Given the description of an element on the screen output the (x, y) to click on. 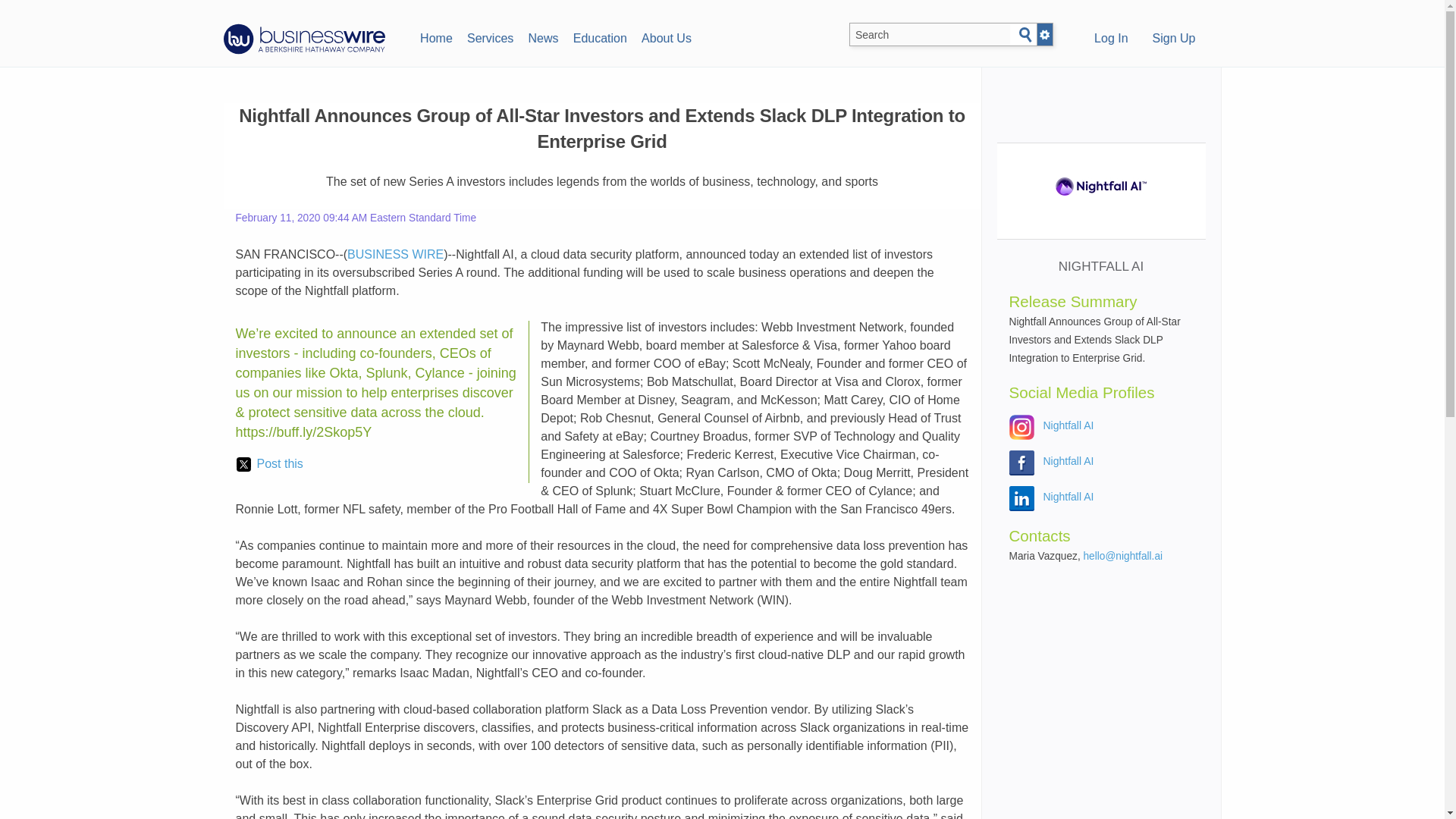
About Us (665, 36)
Nightfall AI (1068, 425)
Education (599, 36)
Nightfall AI (1068, 460)
Nightfall AI (1068, 496)
News (543, 36)
Post this (269, 463)
BUSINESS WIRE (395, 254)
Home (436, 36)
Search BusinessWire.com (930, 34)
Services (490, 36)
Search (1025, 34)
